Given the description of an element on the screen output the (x, y) to click on. 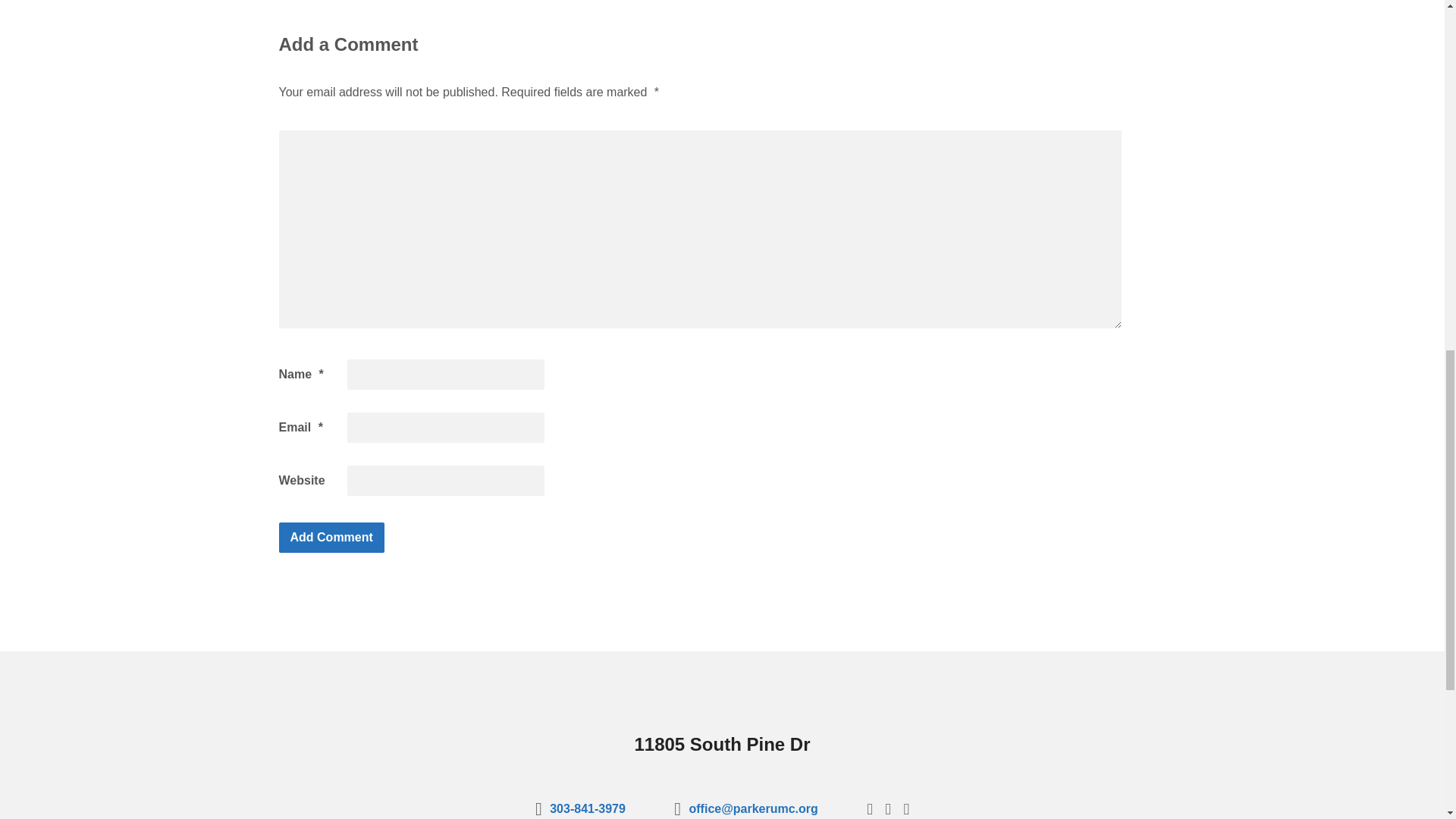
Add Comment (331, 537)
Facebook (869, 808)
Instagram (905, 808)
YouTube (888, 808)
